Given the description of an element on the screen output the (x, y) to click on. 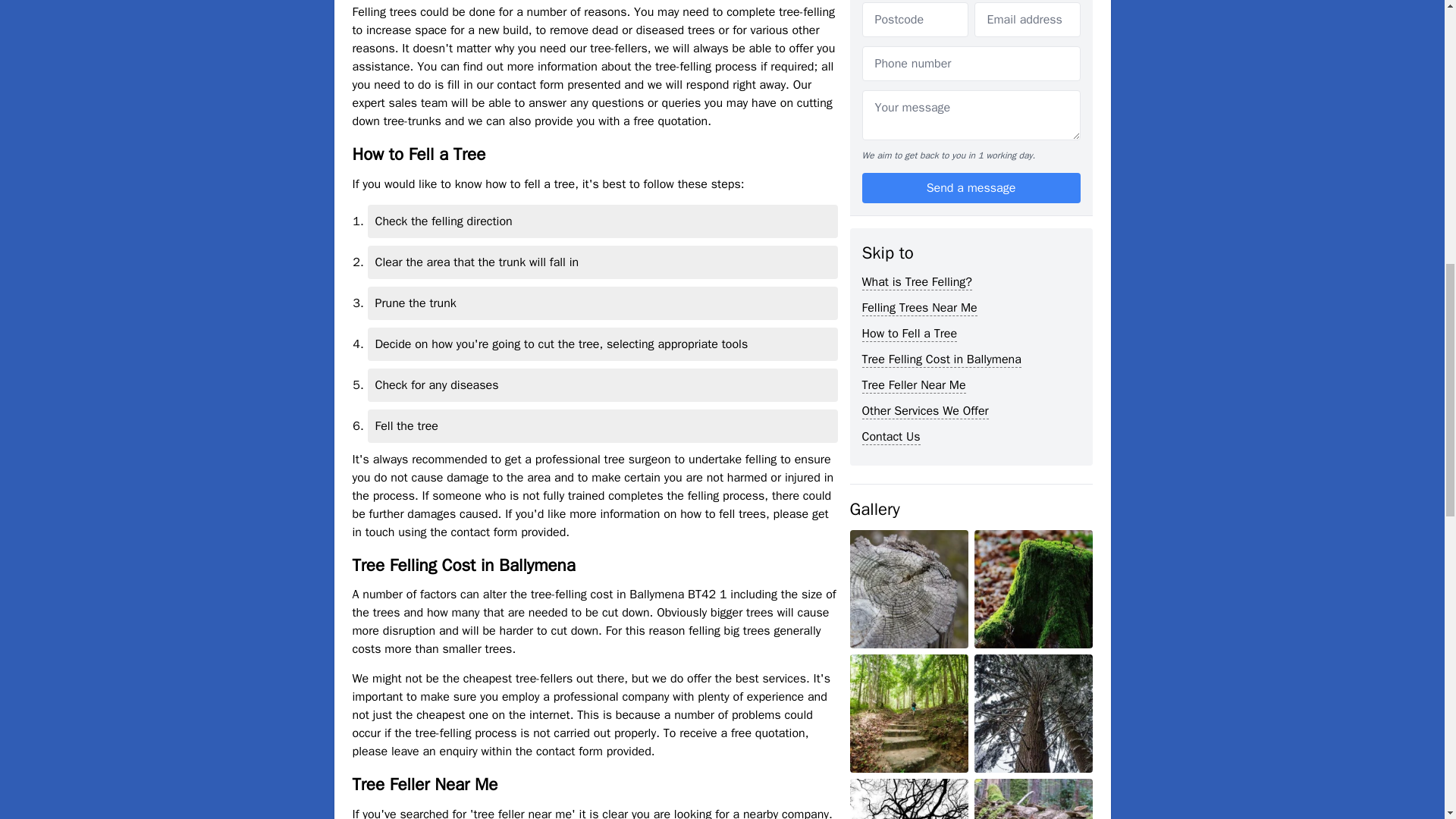
Tree Felling Cost in Ballymena (940, 83)
How to Fell a Tree (908, 57)
Tree Feller Near Me (913, 109)
What is Tree Felling? (916, 7)
Felling Trees Near Me (918, 32)
Contact Us (890, 160)
Other Services We Offer (924, 135)
